Given the description of an element on the screen output the (x, y) to click on. 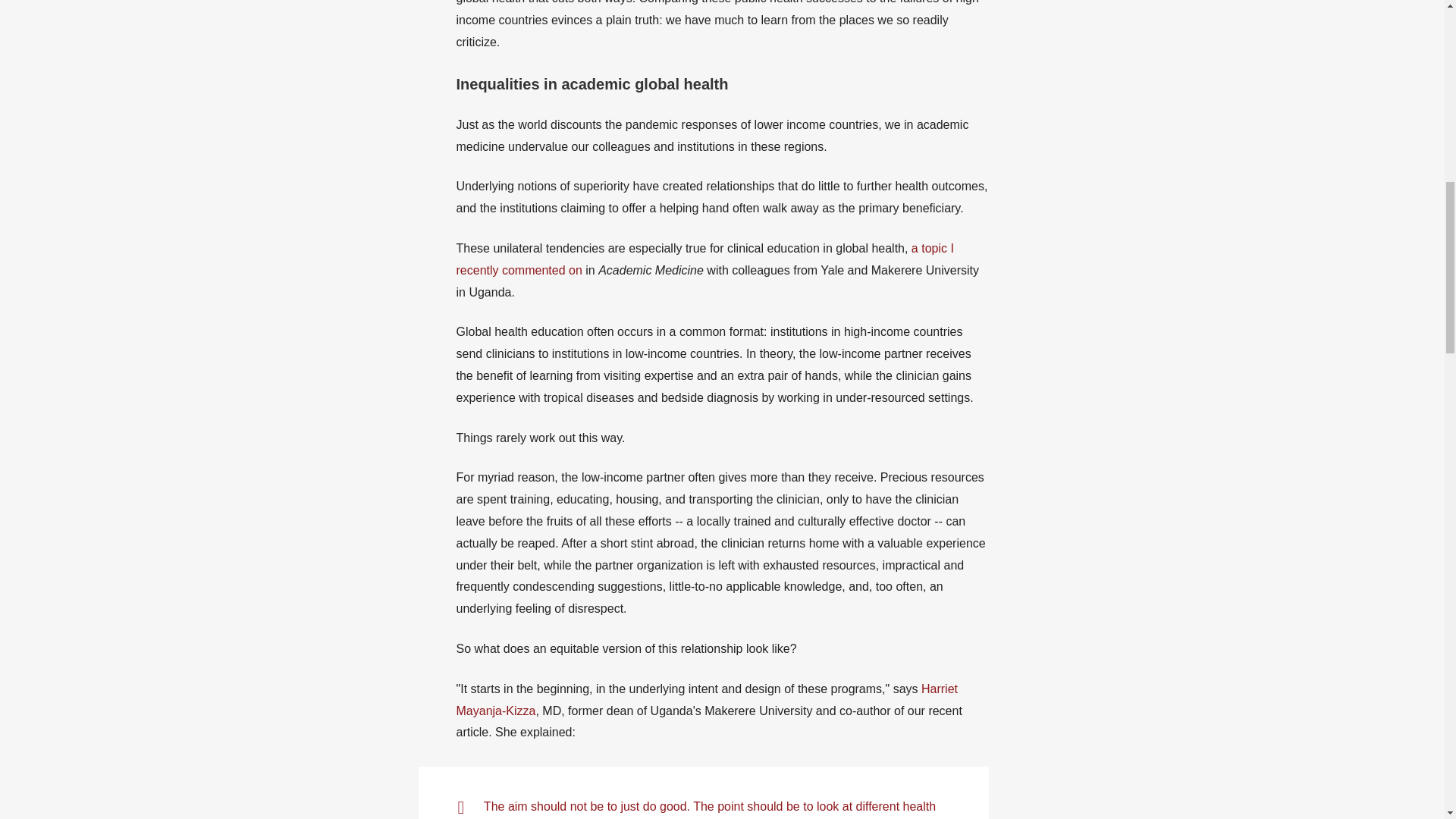
a topic I recently commented on (705, 258)
Harriet Mayanja-Kizza (707, 699)
